Given the description of an element on the screen output the (x, y) to click on. 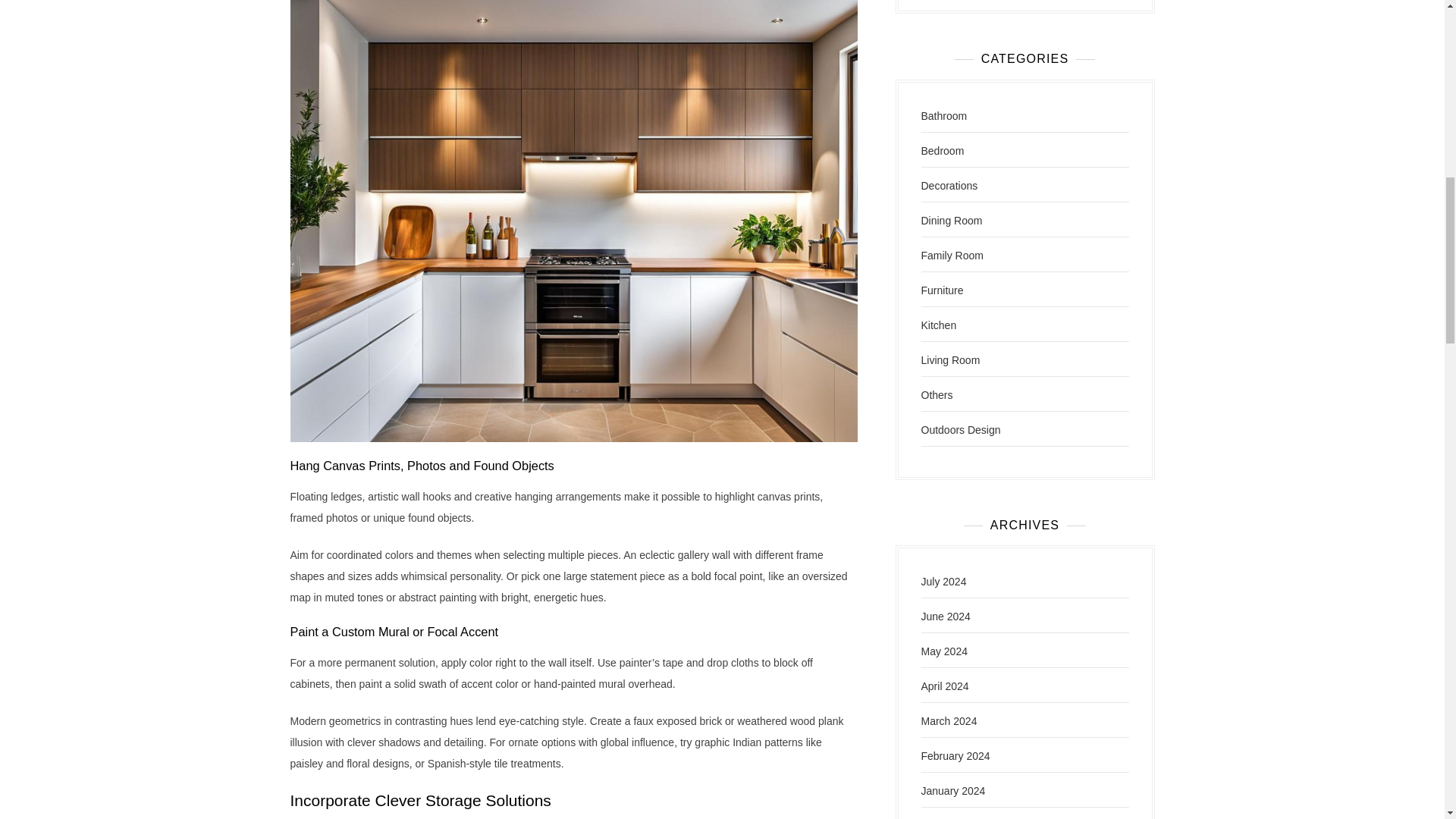
May 2024 (943, 651)
Outdoors Design (960, 429)
Bathroom (943, 115)
Furniture (941, 290)
Kitchen (938, 325)
Dining Room (950, 220)
Others (936, 395)
Family Room (951, 255)
July 2024 (943, 581)
June 2024 (944, 616)
Living Room (949, 359)
April 2024 (944, 686)
Bedroom (941, 150)
Decorations (948, 185)
